Given the description of an element on the screen output the (x, y) to click on. 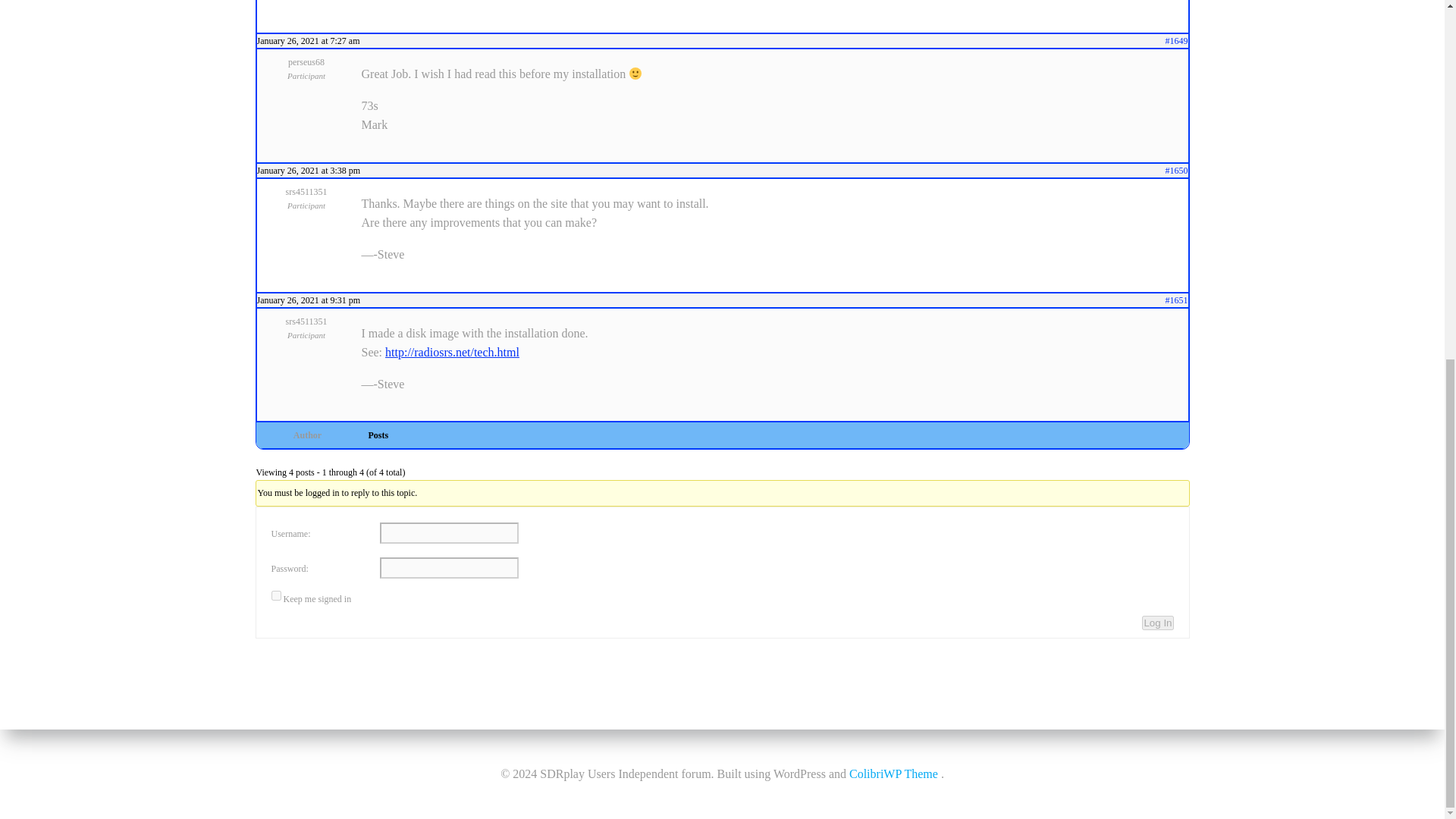
Log In (1157, 622)
ColibriWP Theme (892, 137)
forever (275, 595)
